Given the description of an element on the screen output the (x, y) to click on. 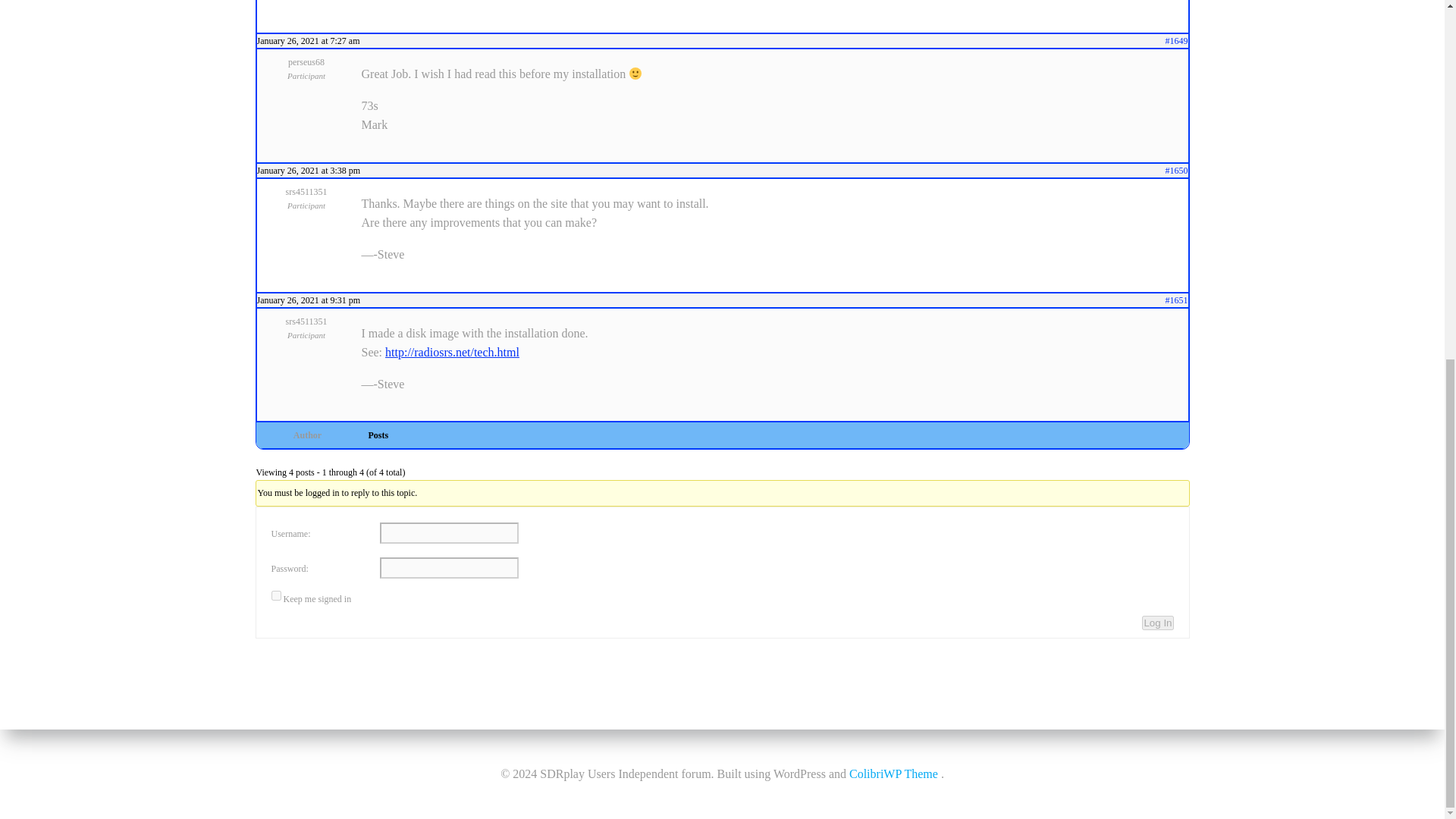
Log In (1157, 622)
ColibriWP Theme (892, 137)
forever (275, 595)
